Given the description of an element on the screen output the (x, y) to click on. 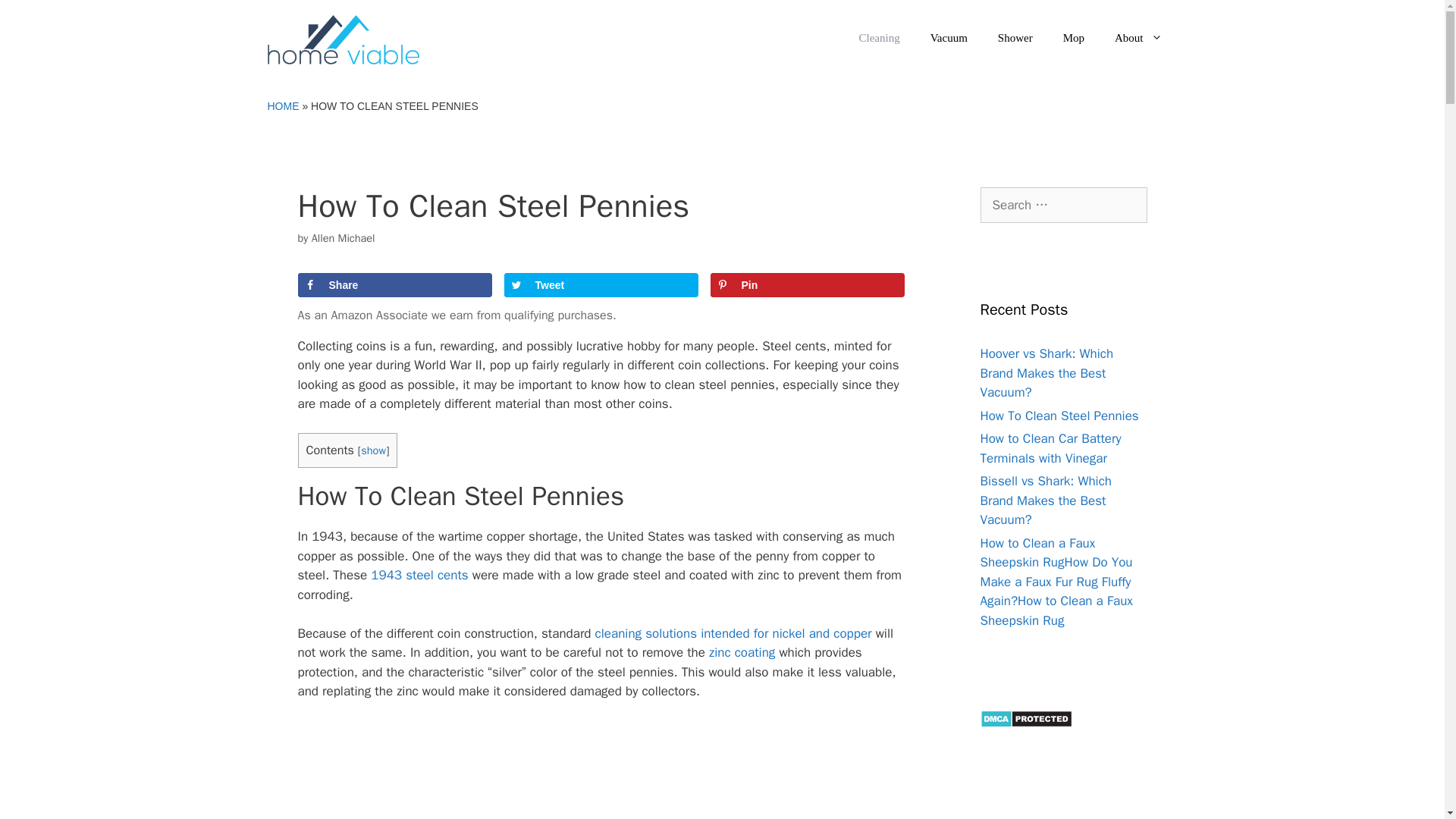
DMCA.com Protection Status (1025, 723)
About (1138, 37)
HOME (282, 105)
Allen Michael (343, 237)
Save to Pinterest (807, 284)
cleaning solutions intended for nickel and copper (733, 633)
View all posts by Allen Michael (343, 237)
Cleaning (879, 37)
Share (394, 284)
Tweet (600, 284)
1943 steel cents (419, 575)
Mop (1073, 37)
Share on Facebook (394, 284)
Share on Twitter (600, 284)
zinc coating (741, 652)
